Given the description of an element on the screen output the (x, y) to click on. 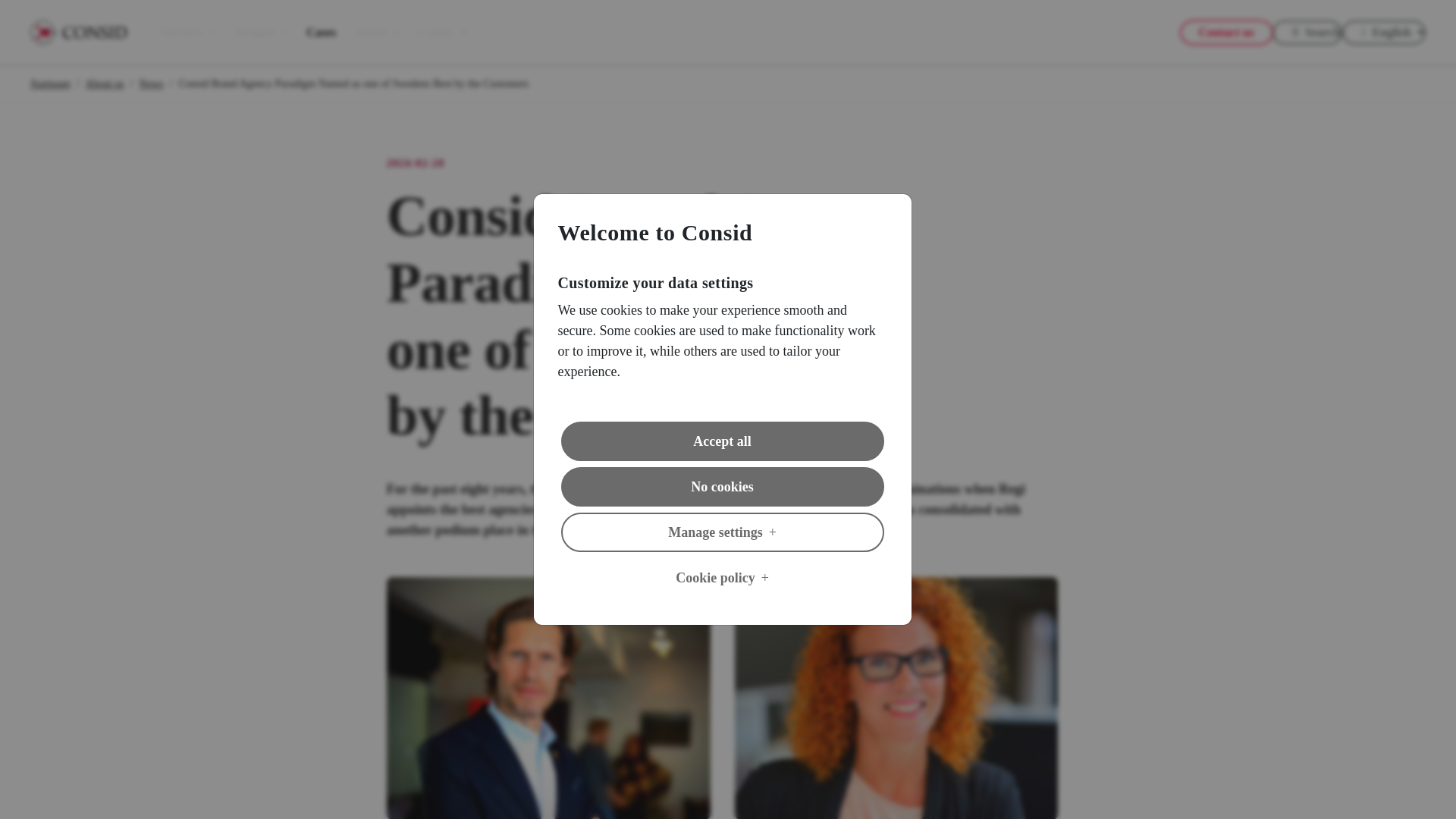
Startpage (49, 83)
Search (1307, 31)
Contact us (1225, 31)
Insights (261, 31)
Career (442, 31)
About (377, 31)
Services (188, 31)
Cases (321, 31)
English (1383, 31)
About us (104, 83)
To Startpage (79, 30)
News (151, 83)
